Given the description of an element on the screen output the (x, y) to click on. 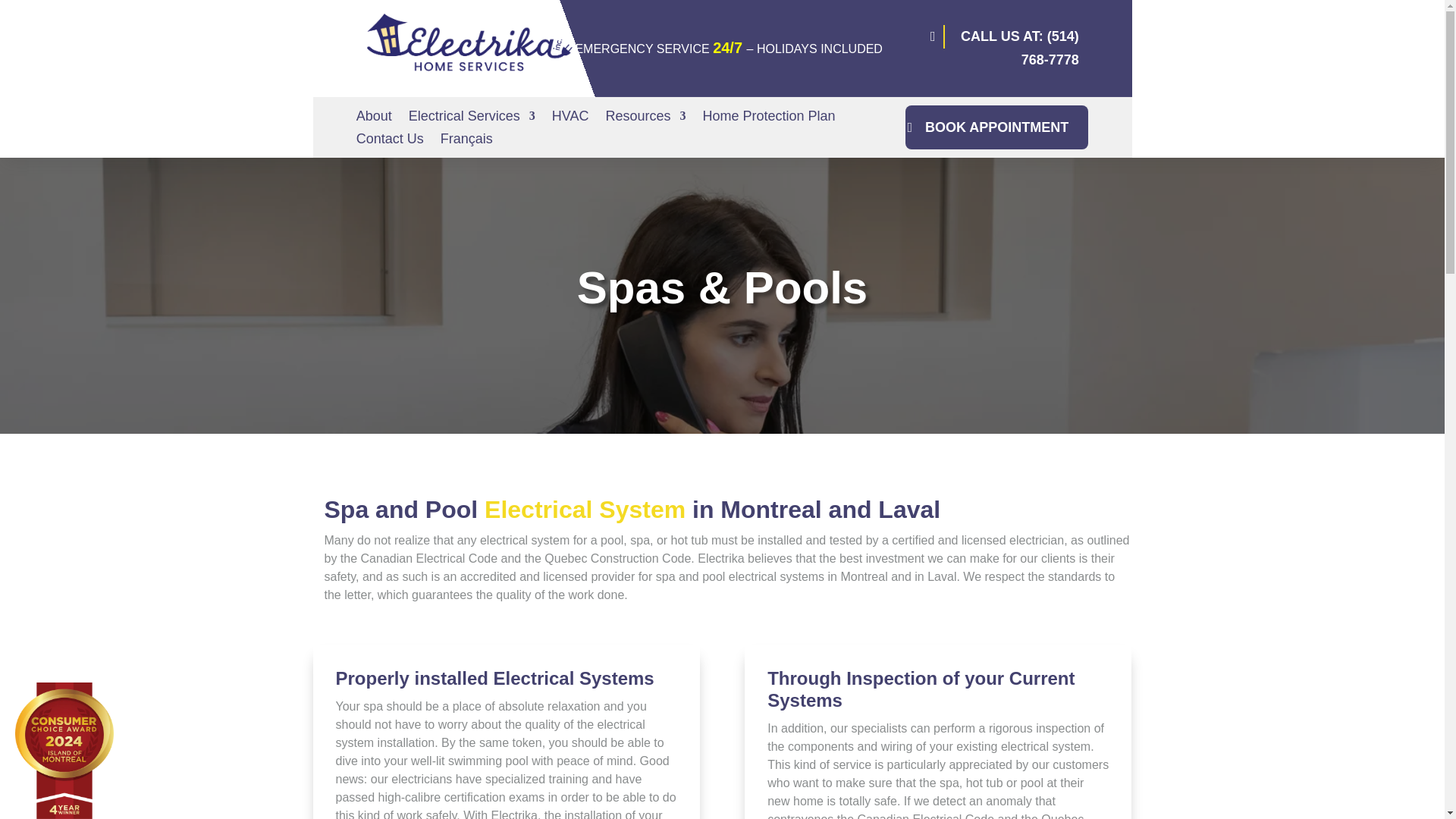
HVAC (570, 118)
Home Protection Plan (767, 118)
Contact Us (389, 141)
Electrical Services (472, 118)
Resources (645, 118)
About (373, 118)
English (469, 48)
